Given the description of an element on the screen output the (x, y) to click on. 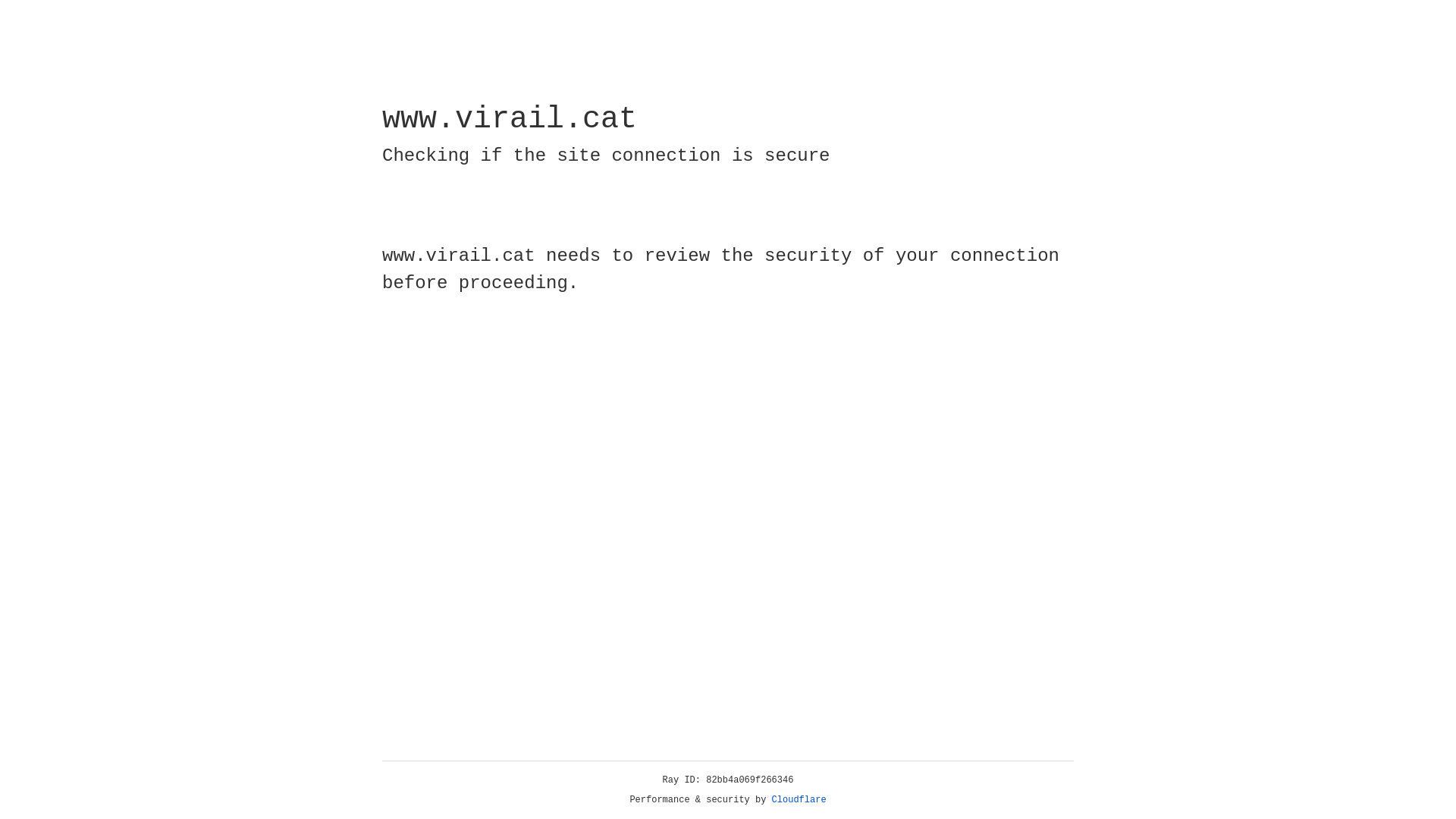
Cloudflare Element type: text (798, 799)
